Given the description of an element on the screen output the (x, y) to click on. 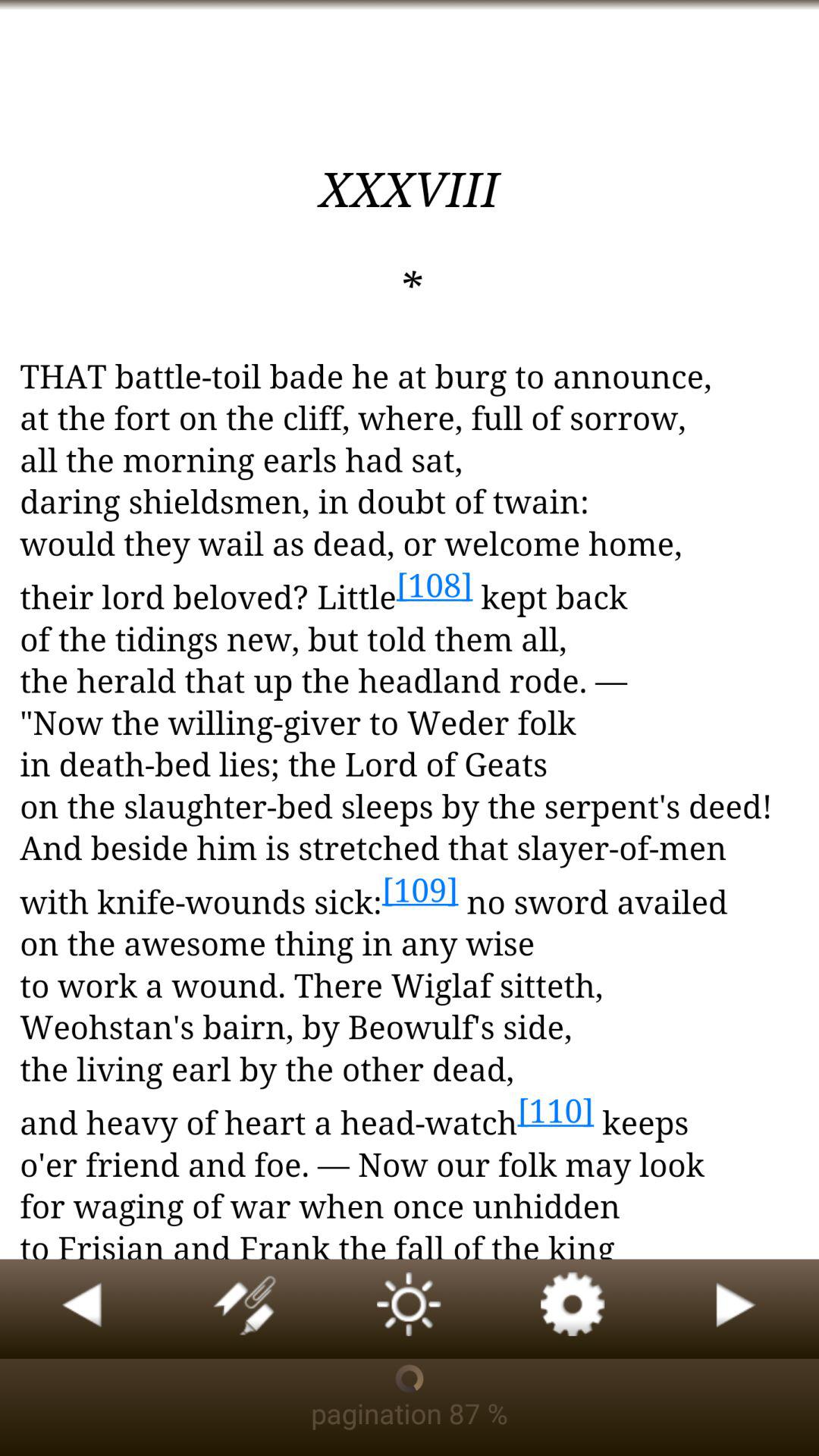
next page (737, 1308)
